Given the description of an element on the screen output the (x, y) to click on. 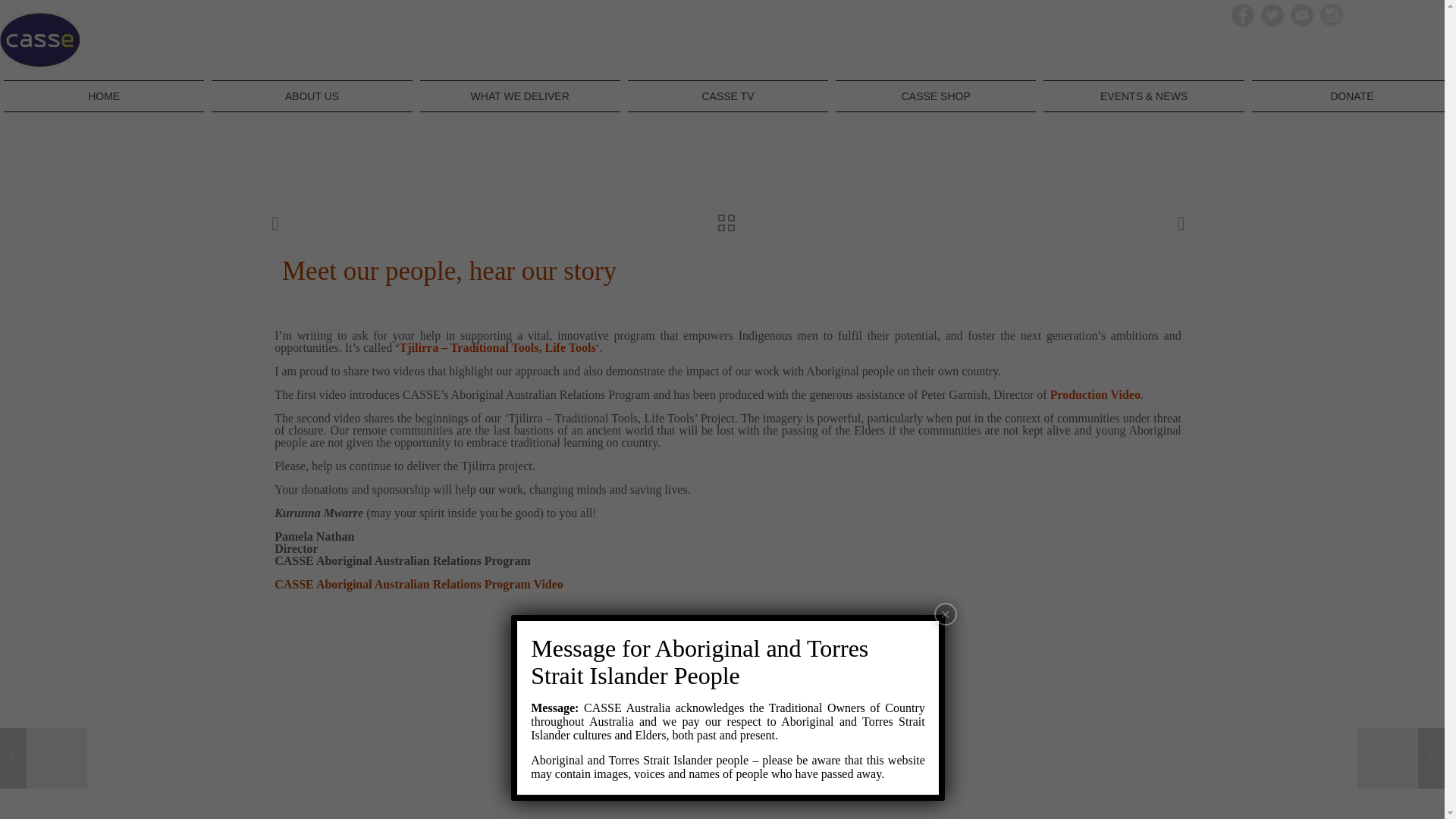
WHAT WE DELIVER (520, 96)
HOME (103, 96)
CASSE Australia (40, 40)
ABOUT US (311, 96)
CASSE TV (727, 96)
